Given the description of an element on the screen output the (x, y) to click on. 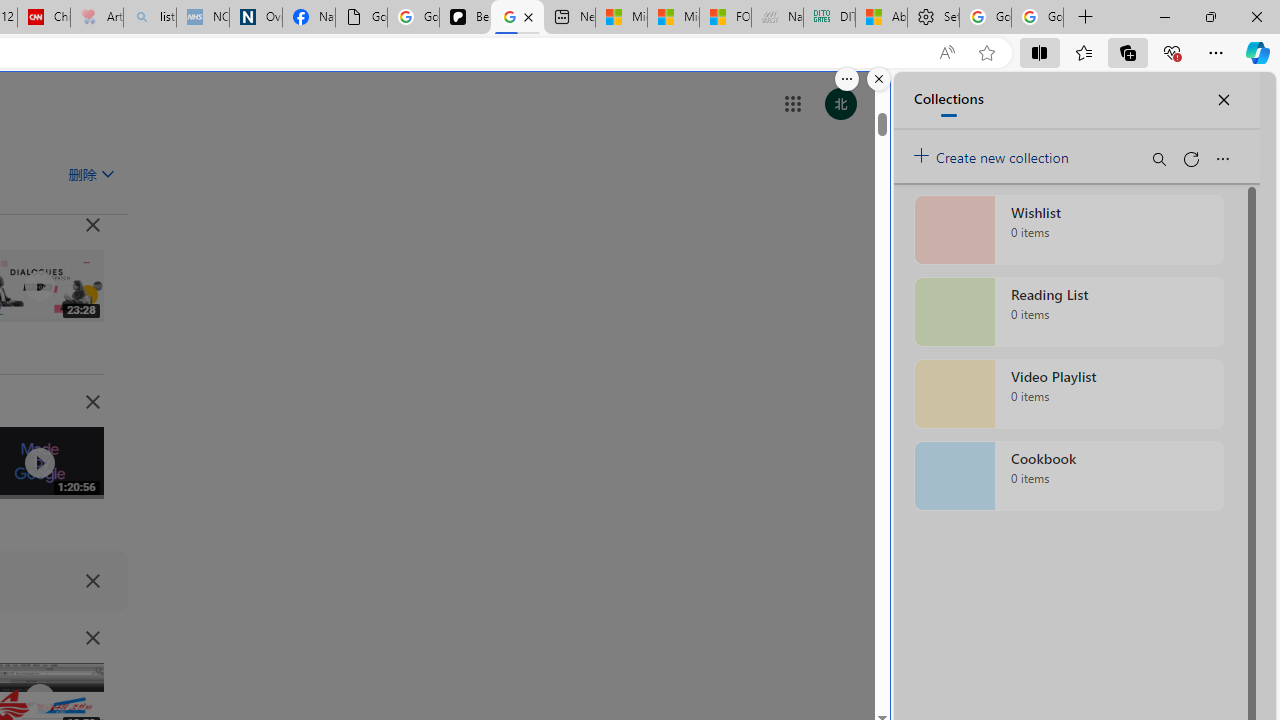
Minimize (1164, 16)
Settings (932, 17)
Arthritis: Ask Health Professionals - Sleeping (96, 17)
New tab (569, 17)
Navy Quest (776, 17)
Read aloud this page (Ctrl+Shift+U) (946, 53)
Browser essentials (1171, 52)
Class: asE2Ub NMm5M (107, 173)
Class: TjcpUd NMm5M (91, 637)
Restore (1210, 16)
More options. (846, 79)
